Given the description of an element on the screen output the (x, y) to click on. 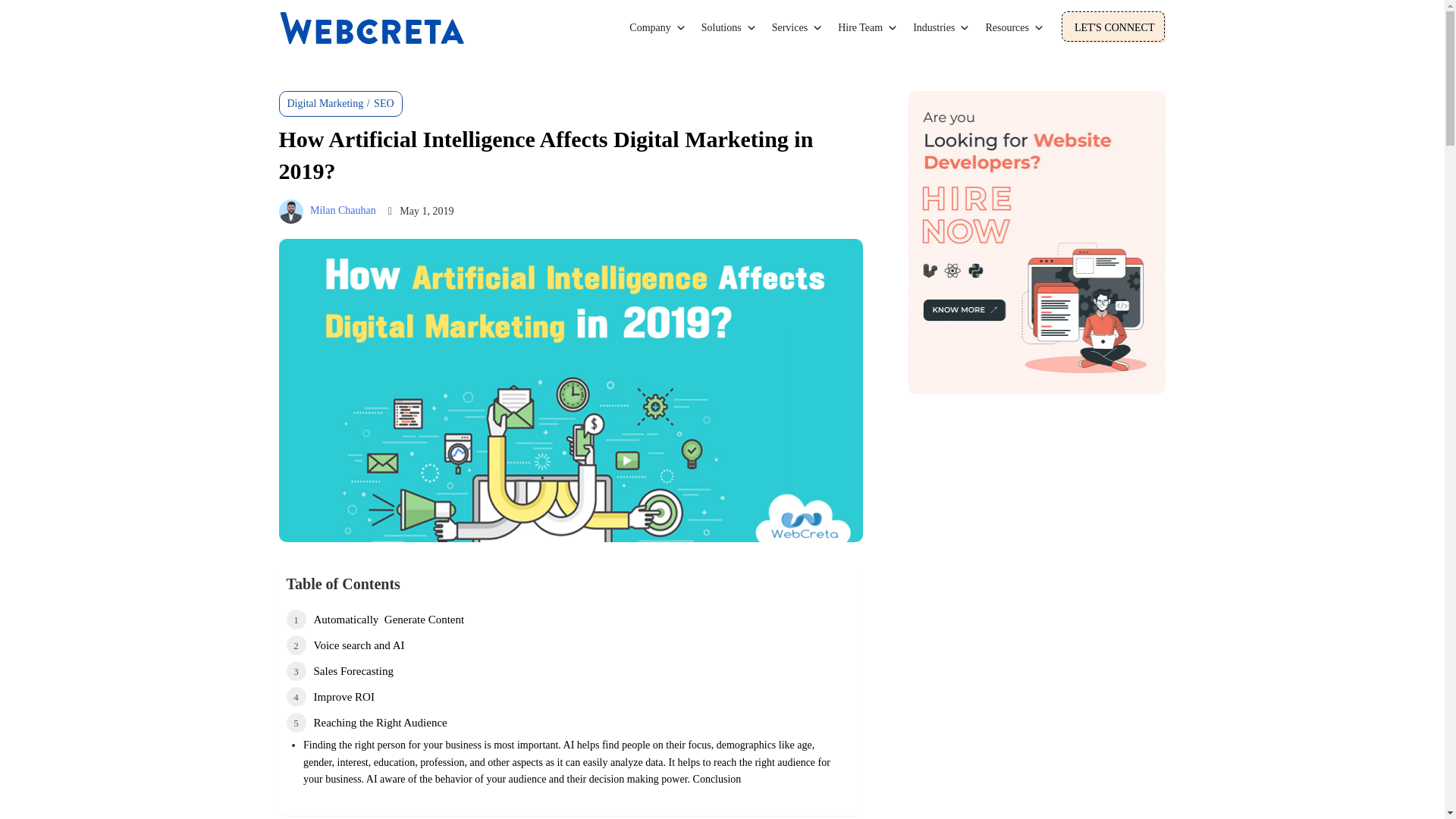
Reaching the Right Audience (366, 722)
Solutions (729, 28)
Company (657, 28)
Services (796, 28)
Voice search and AI (345, 645)
Hire Team (867, 28)
Sales Forecasting (339, 670)
Improve ROI (330, 696)
